Given the description of an element on the screen output the (x, y) to click on. 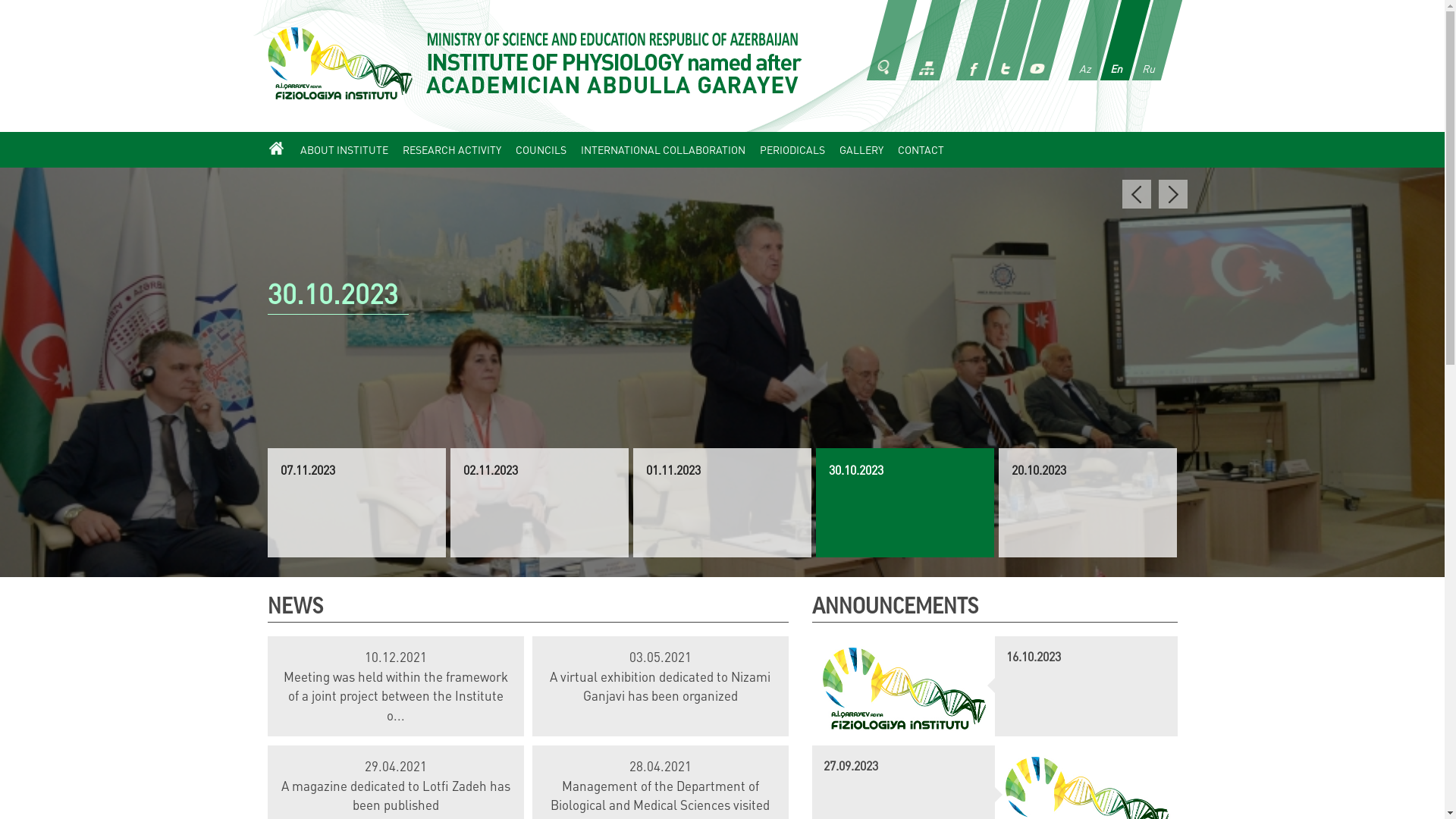
GALLERY Element type: text (861, 149)
PERIODICALS Element type: text (791, 149)
16.10.2023 Element type: text (1085, 656)
ANNOUNCEMENTS Element type: text (894, 606)
CONTACT Element type: text (920, 149)
27.09.2023 Element type: text (903, 765)
ABOUT INSTITUTE Element type: text (343, 149)
01.11.2023 Element type: text (721, 297)
INTERNATIONAL COLLABORATION Element type: text (662, 149)
Site map Element type: hover (924, 39)
RESEARCH ACTIVITY Element type: text (451, 149)
En Element type: text (1113, 40)
NEWS Element type: text (294, 606)
COUNCILS Element type: text (540, 149)
Az Element type: text (1081, 40)
Ru Element type: text (1145, 40)
